Given the description of an element on the screen output the (x, y) to click on. 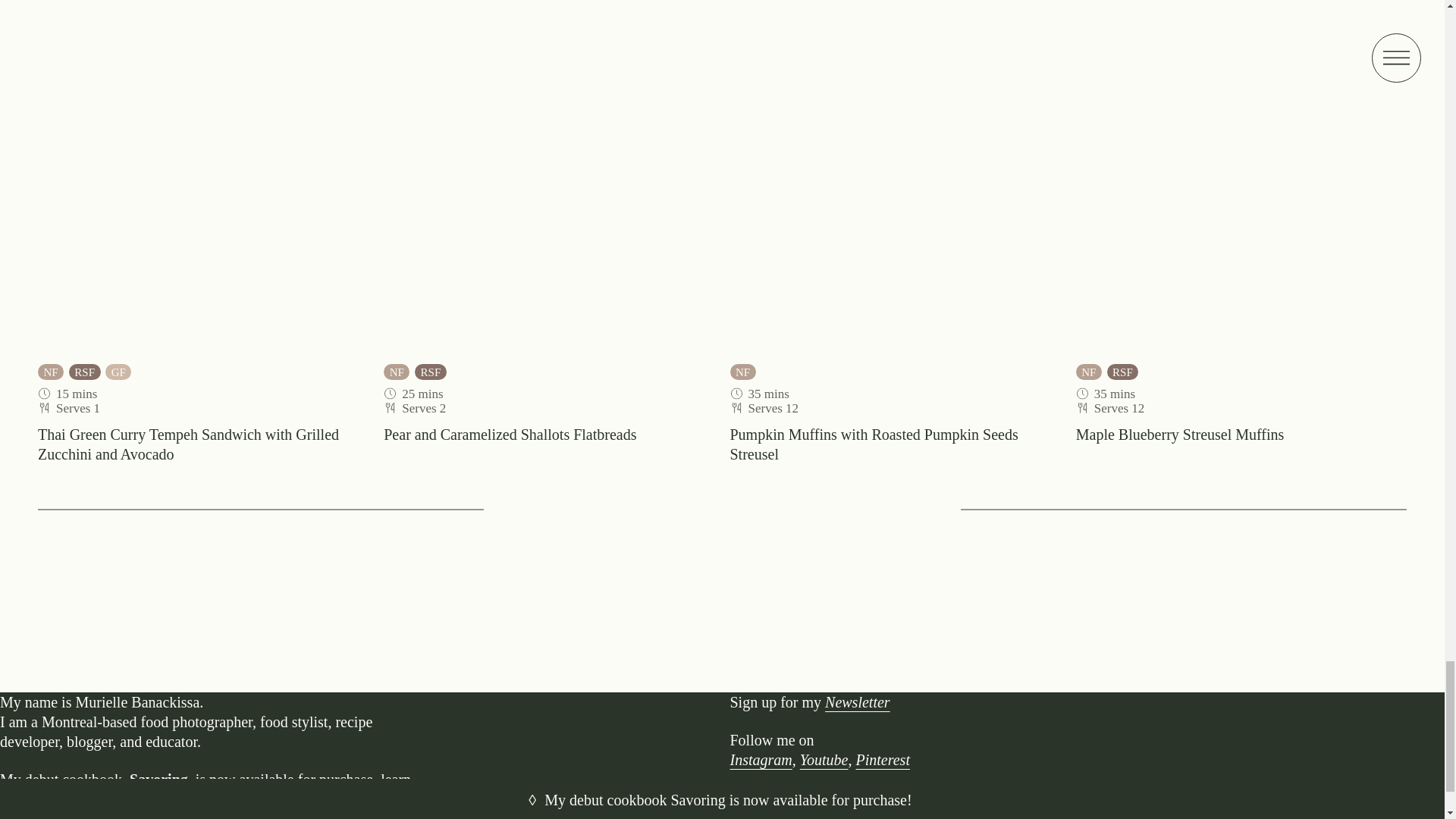
Nut free (50, 371)
Nut free (742, 371)
Gluten free (117, 371)
Refined Sugar free (430, 371)
Refined Sugar free (1122, 371)
Nut free (1088, 371)
Nut free (396, 371)
